Given the description of an element on the screen output the (x, y) to click on. 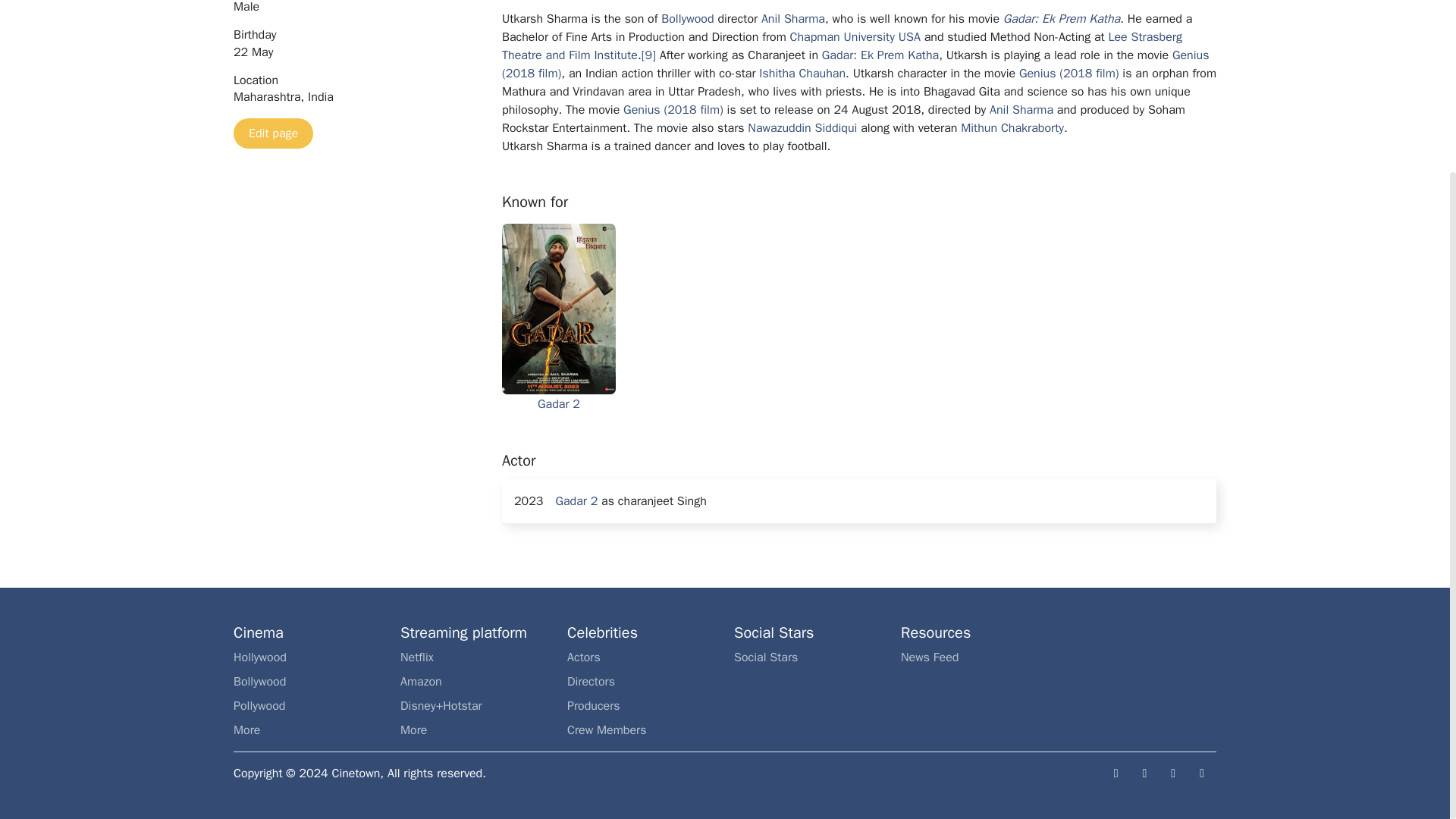
Anil Sharma (793, 18)
Chapman University USA (855, 37)
Lee Strasberg Theatre and Film Institute (842, 46)
Gadar: Ek Prem Katha (880, 55)
Edit page (272, 132)
Gadar: Ek Prem Katha (1061, 18)
Ishitha Chauhan (801, 73)
Bollywood (687, 18)
